Given the description of an element on the screen output the (x, y) to click on. 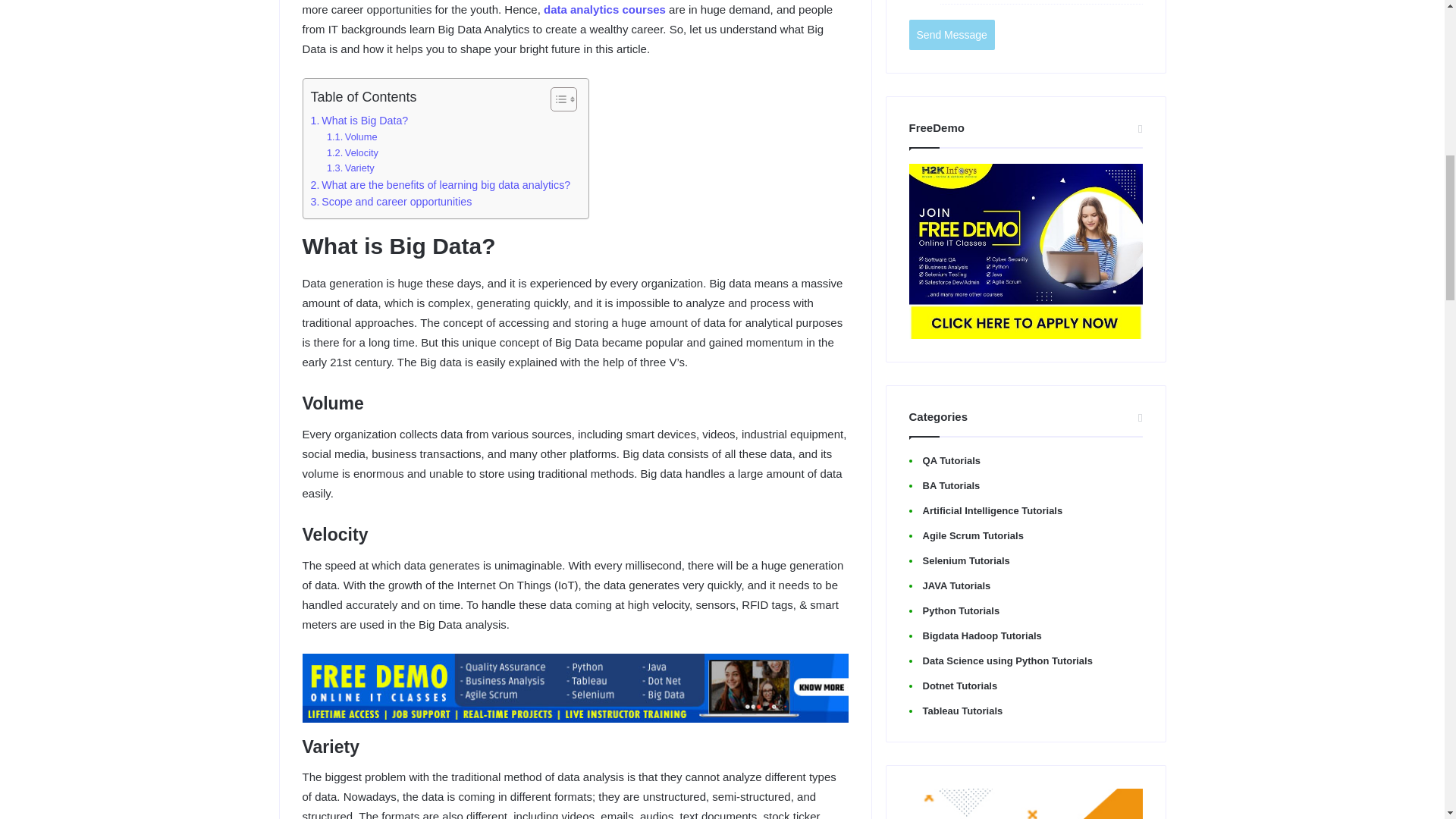
What is Big Data? (360, 120)
data analytics courses (604, 9)
Velocity (352, 153)
What is Big Data? (360, 120)
Variety (350, 168)
Volume (351, 137)
Scope and career opportunities (391, 201)
